Given the description of an element on the screen output the (x, y) to click on. 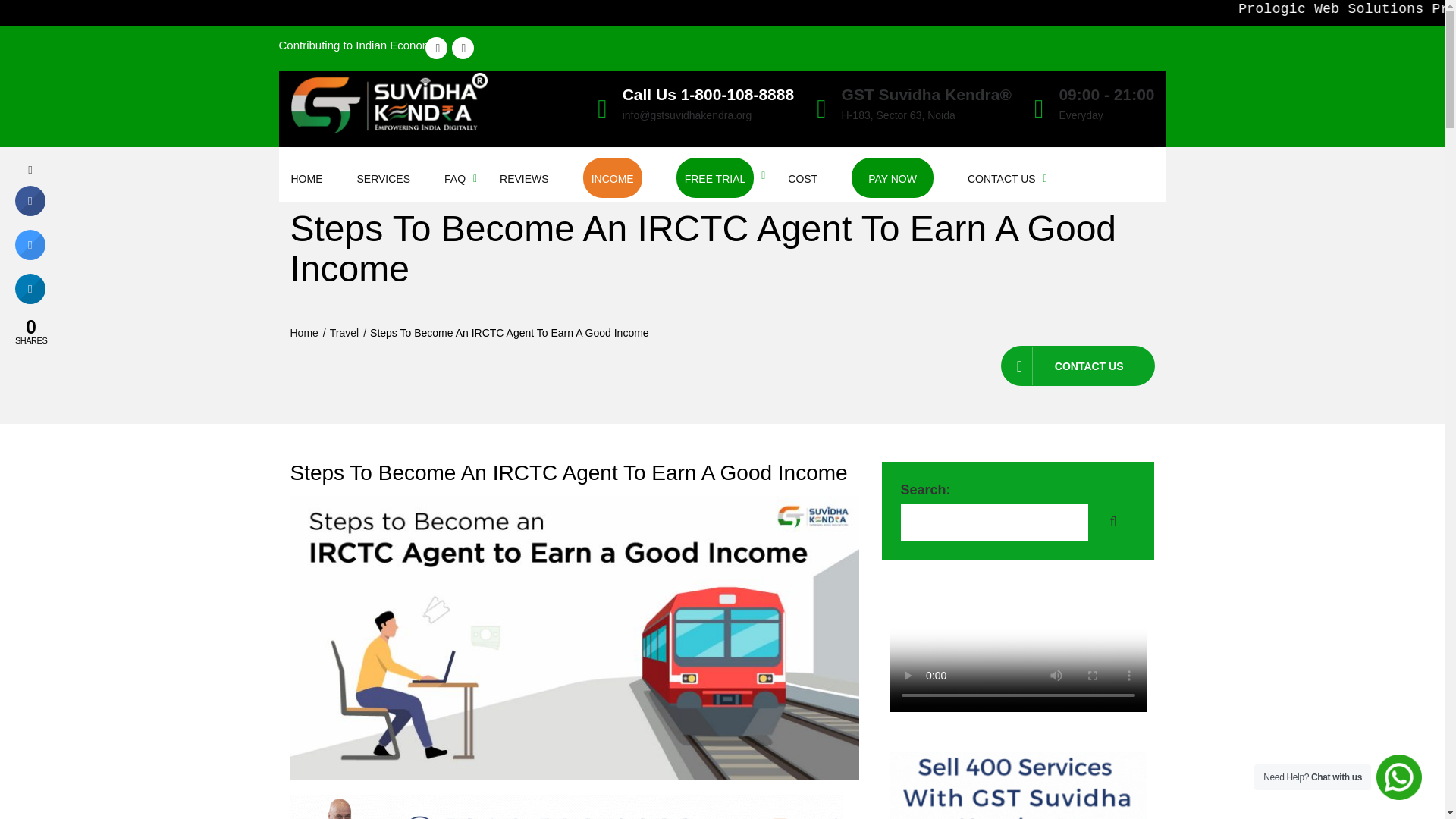
INCOME (612, 176)
Home (303, 332)
PAY NOW (892, 176)
Call Us 1-800-108-8888 (708, 94)
SERVICES (383, 178)
CONTACT US (1001, 178)
Share on Facebook (29, 211)
FREE TRIAL (714, 176)
Share on LinkedIn (29, 299)
CONTACT US (1077, 365)
REVIEWS (523, 178)
Travel (344, 332)
Share on Twitter (29, 255)
